Given the description of an element on the screen output the (x, y) to click on. 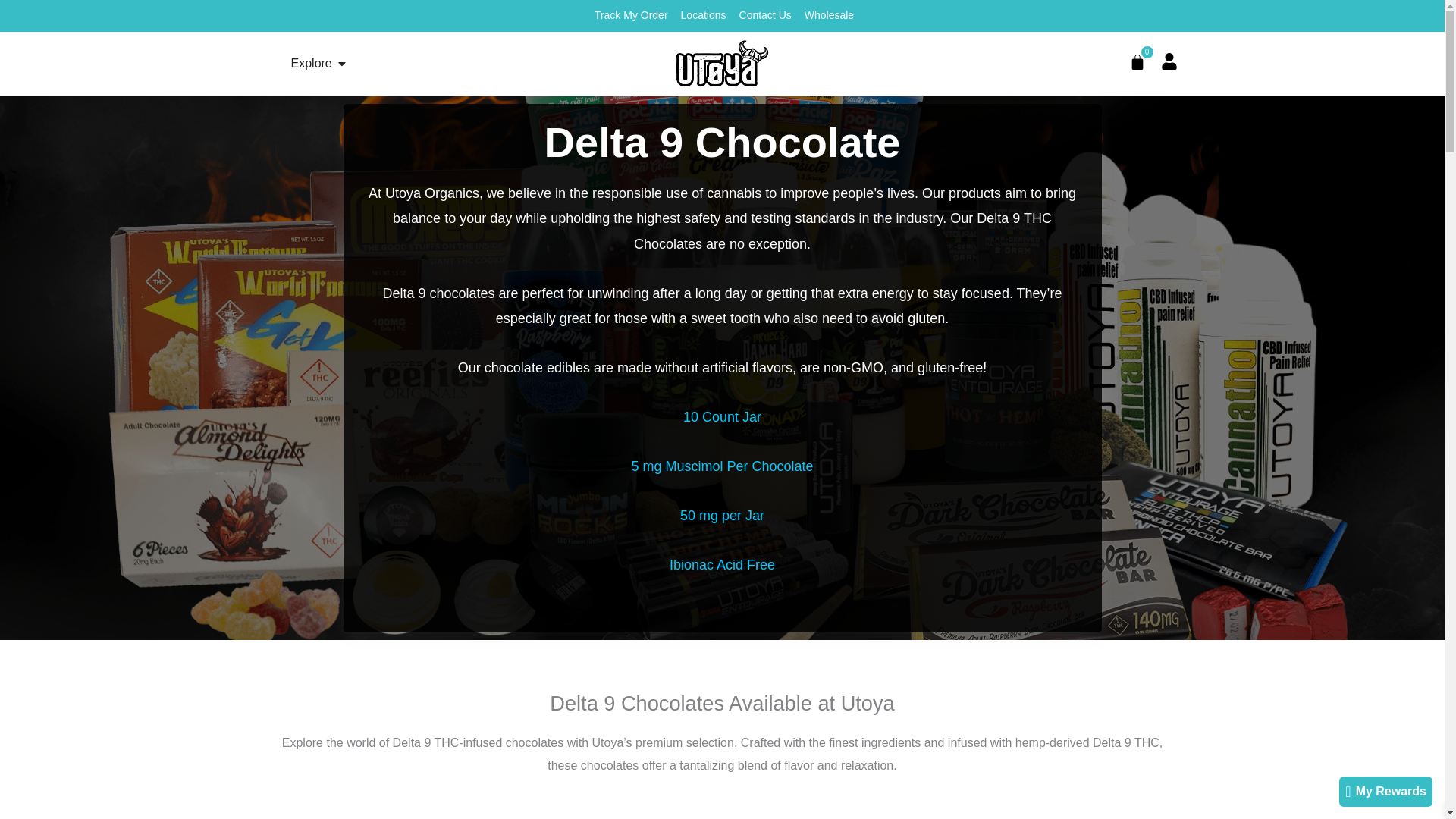
Locations (701, 15)
Open Explore (341, 63)
Contact Us (763, 15)
Explore (311, 63)
Wholesale (826, 15)
Track My Order (629, 15)
